Given the description of an element on the screen output the (x, y) to click on. 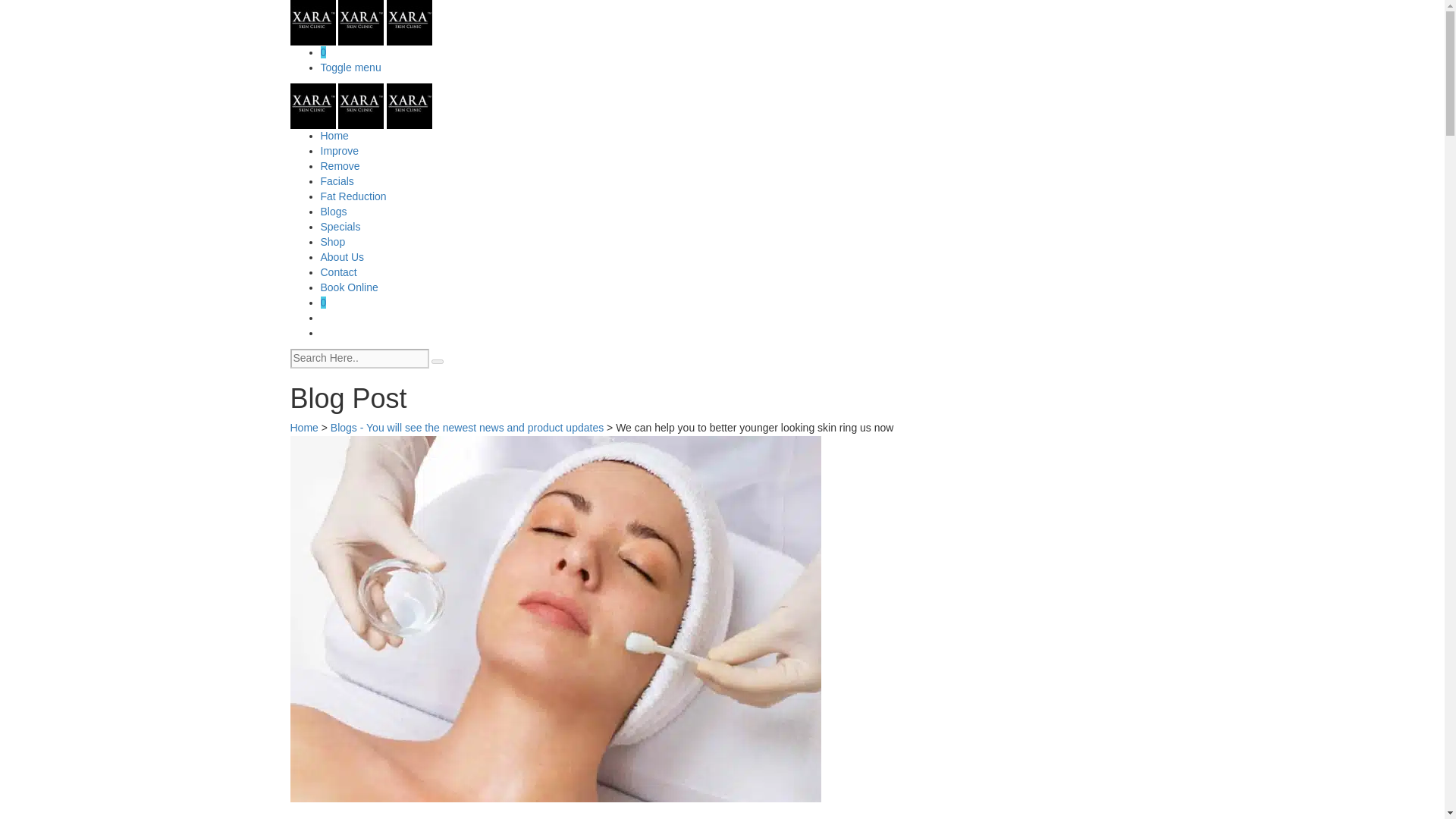
We can help you to better younger looking skin ring us now (754, 427)
Toggle menu (737, 68)
0 (737, 52)
Home (303, 427)
